Given the description of an element on the screen output the (x, y) to click on. 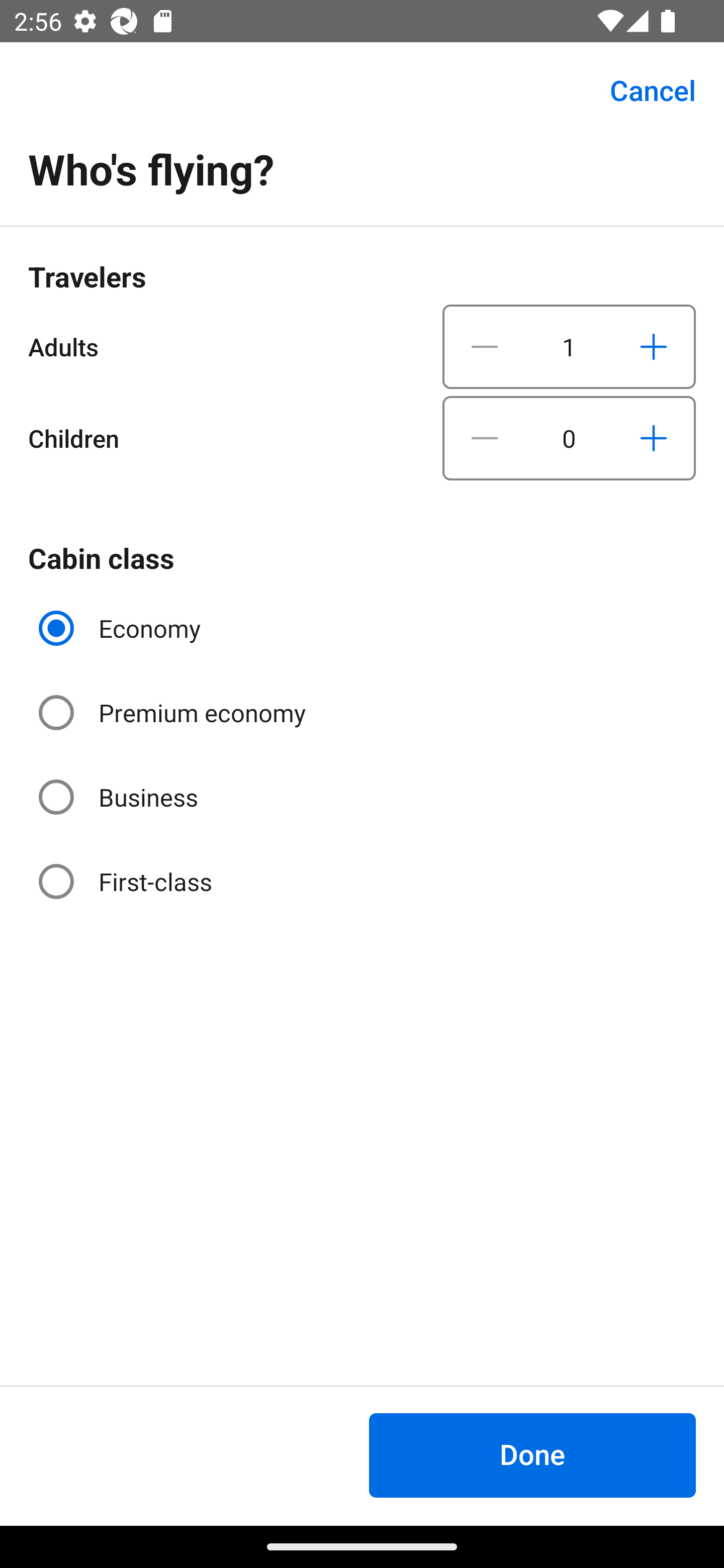
Cancel (641, 90)
Decrease (484, 346)
Increase (653, 346)
Decrease (484, 437)
Increase (653, 437)
Economy (121, 628)
Premium economy (174, 712)
Business (120, 796)
First-class (126, 880)
Done (532, 1454)
